Given the description of an element on the screen output the (x, y) to click on. 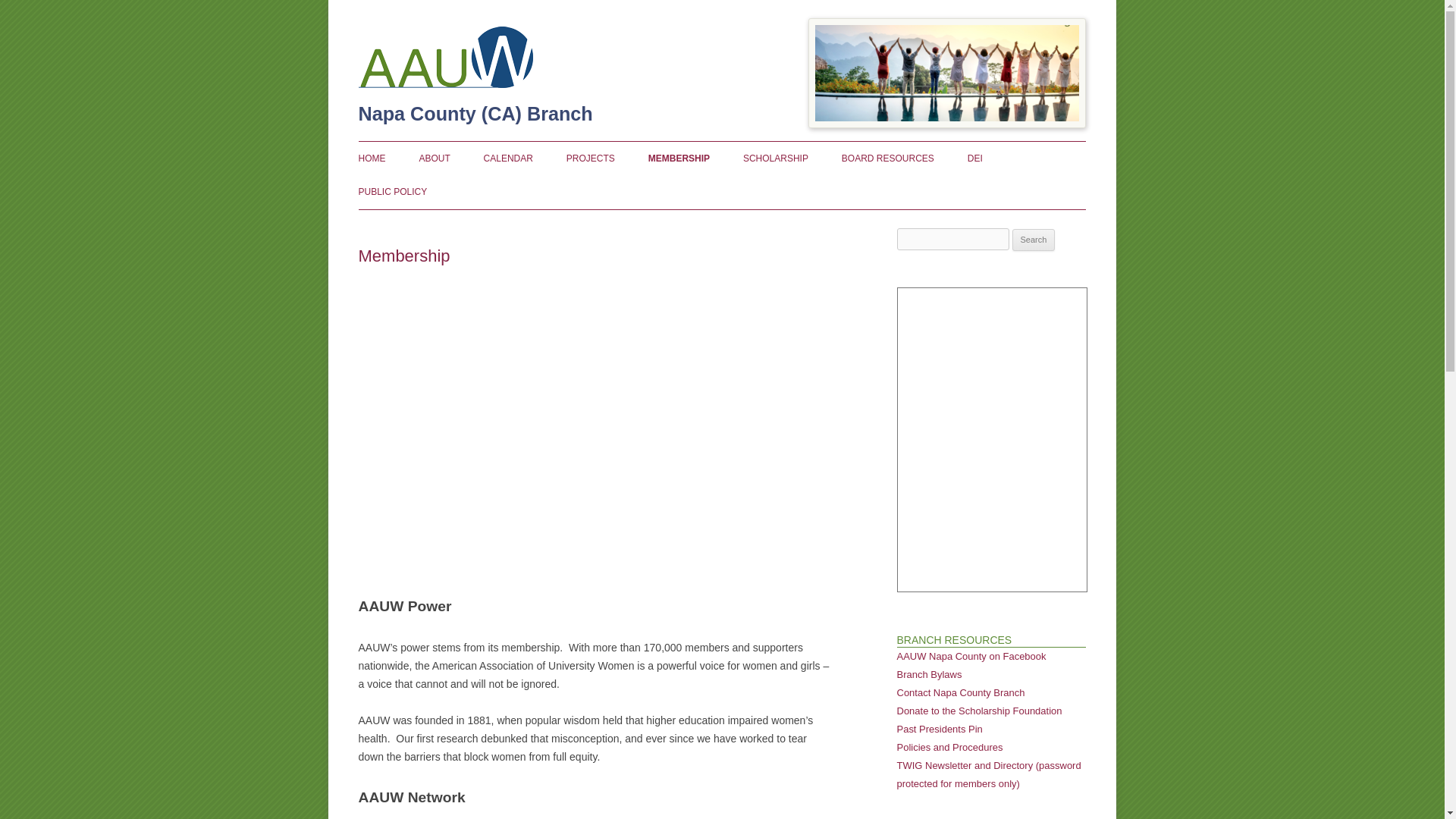
Policies and Procedures (949, 747)
Past Presidents Pin (938, 728)
PUBLIC POLICY (392, 191)
Search (1033, 240)
The Power of Membership (594, 417)
SCHOLARSHIP (775, 158)
Donate to the Scholarship Foundation (978, 710)
ABOUT (434, 158)
Search (1033, 240)
